Given the description of an element on the screen output the (x, y) to click on. 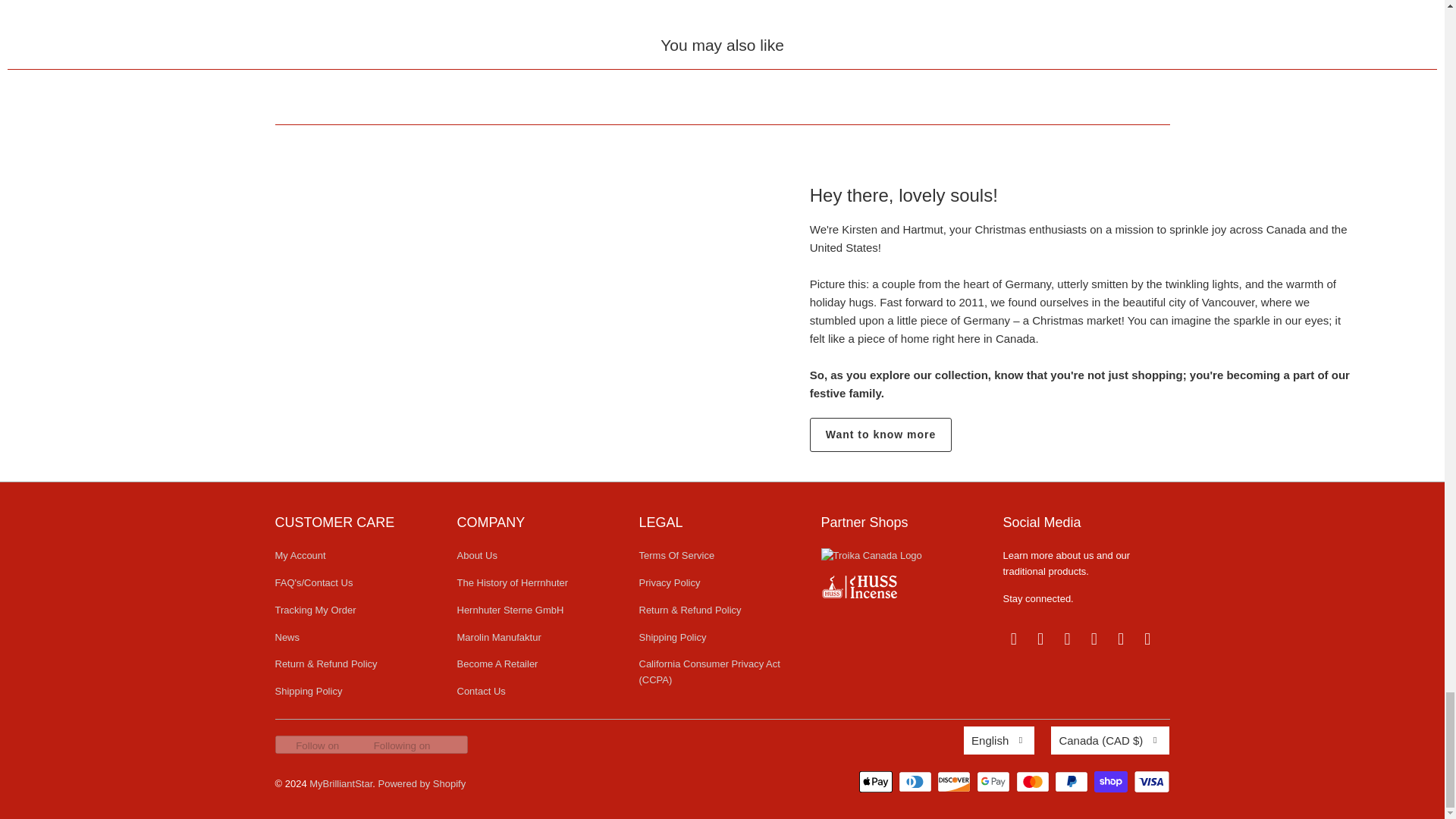
Apple Pay (877, 781)
Diners Club (916, 781)
Google Pay (994, 781)
PayPal (1072, 781)
Shop Pay (1112, 781)
Visa (1150, 781)
Mastercard (1034, 781)
Discover (955, 781)
